Given the description of an element on the screen output the (x, y) to click on. 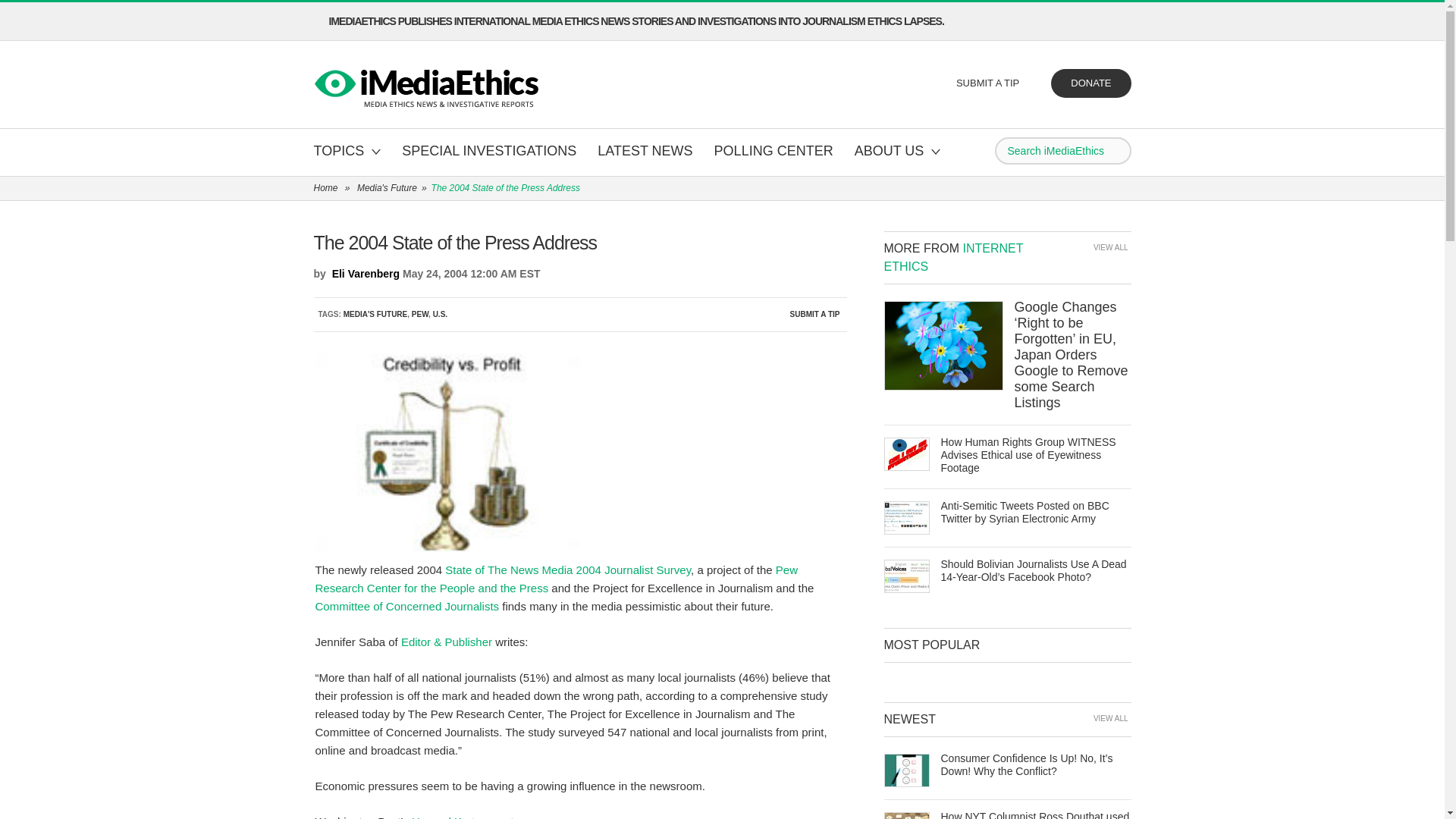
CCJ (407, 605)
survey (567, 569)
TOPICS (347, 152)
Search (1116, 149)
Howard Kurtz reports (465, 816)
SUBMIT A TIP (988, 82)
iMediaEthics (428, 84)
PEW (556, 578)
iMediaEthics (428, 84)
DONATE (1091, 82)
